Given the description of an element on the screen output the (x, y) to click on. 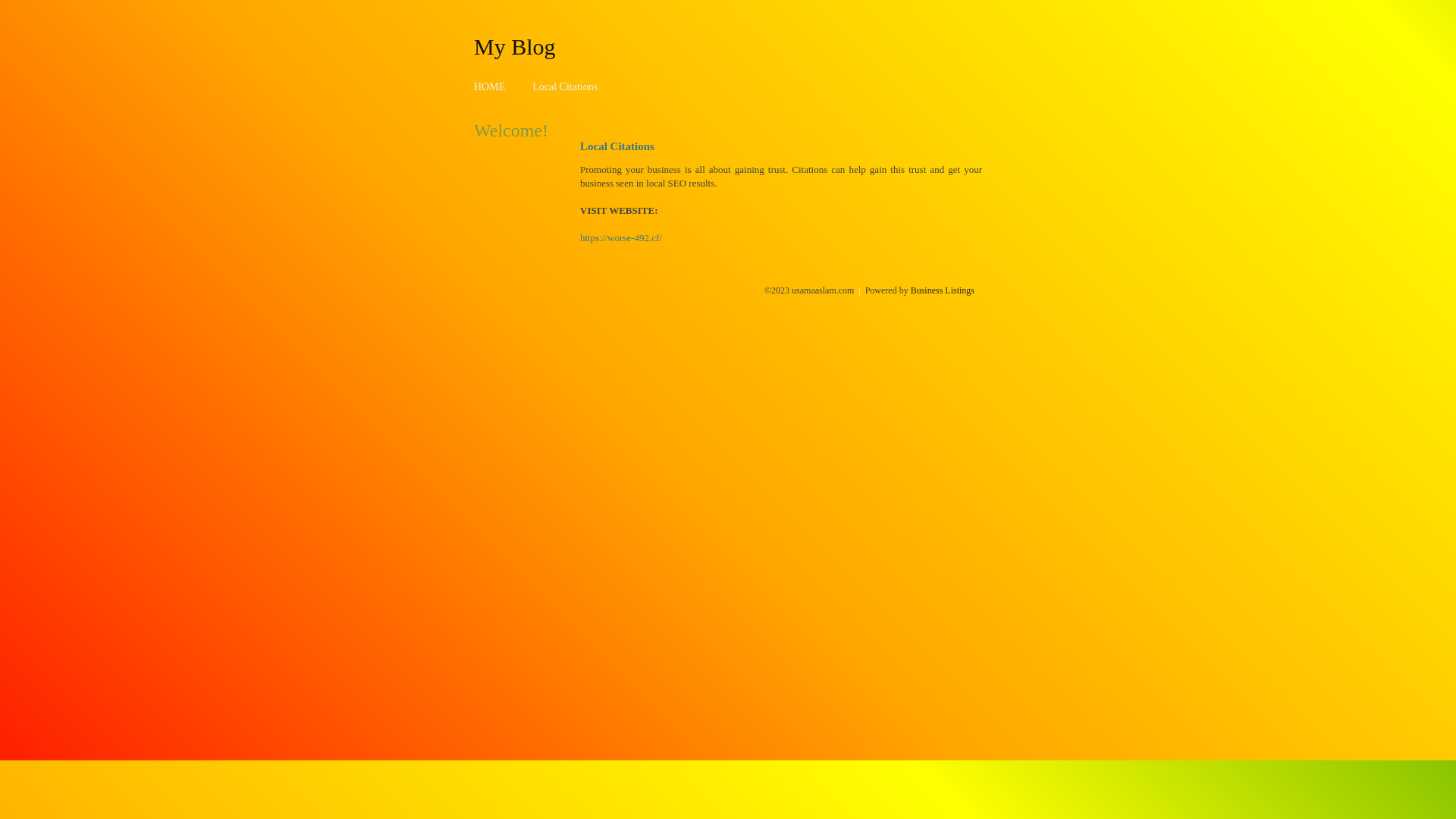
Local Citations Element type: text (564, 86)
HOME Element type: text (489, 86)
Business Listings Element type: text (942, 290)
https://worse-492.cf/ Element type: text (621, 237)
My Blog Element type: text (514, 46)
